Given the description of an element on the screen output the (x, y) to click on. 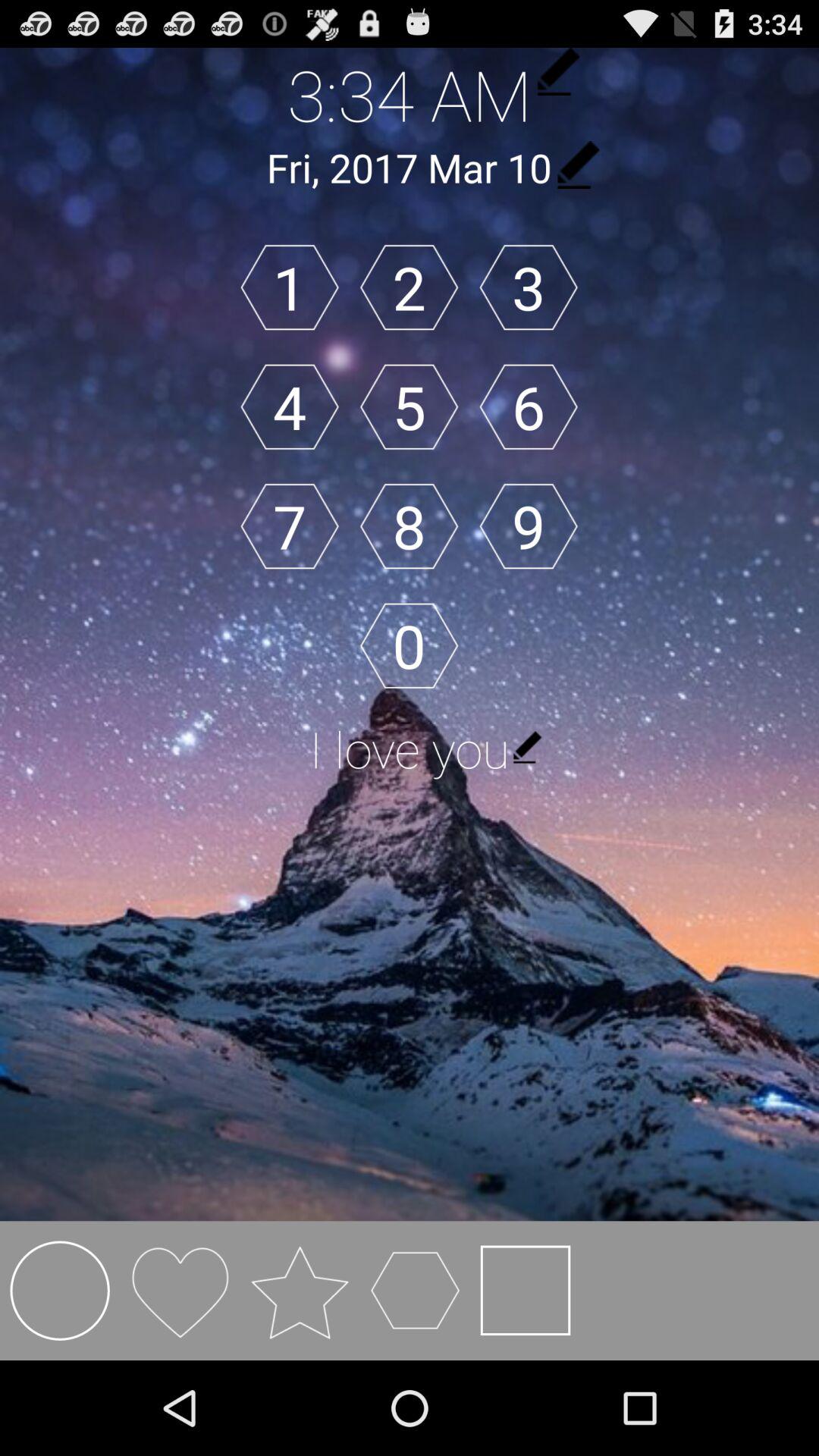
launch button next to 5 icon (528, 406)
